Given the description of an element on the screen output the (x, y) to click on. 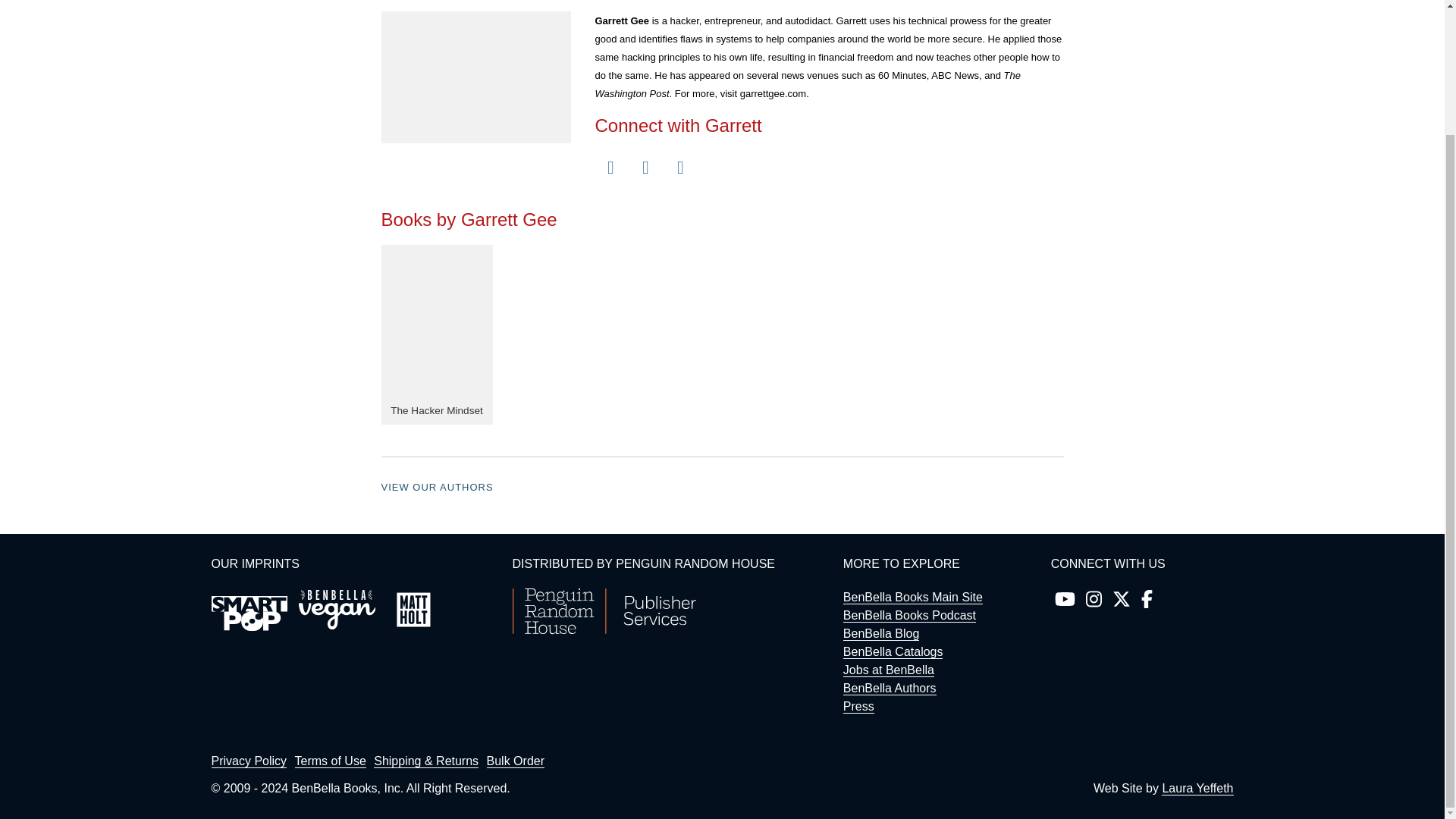
VIEW OUR AUTHORS (436, 487)
Matt Holt Books (413, 609)
Search (1147, 177)
SmartPop Books (248, 613)
BenBella Vegan (336, 609)
Penguin Random House (603, 630)
